Given the description of an element on the screen output the (x, y) to click on. 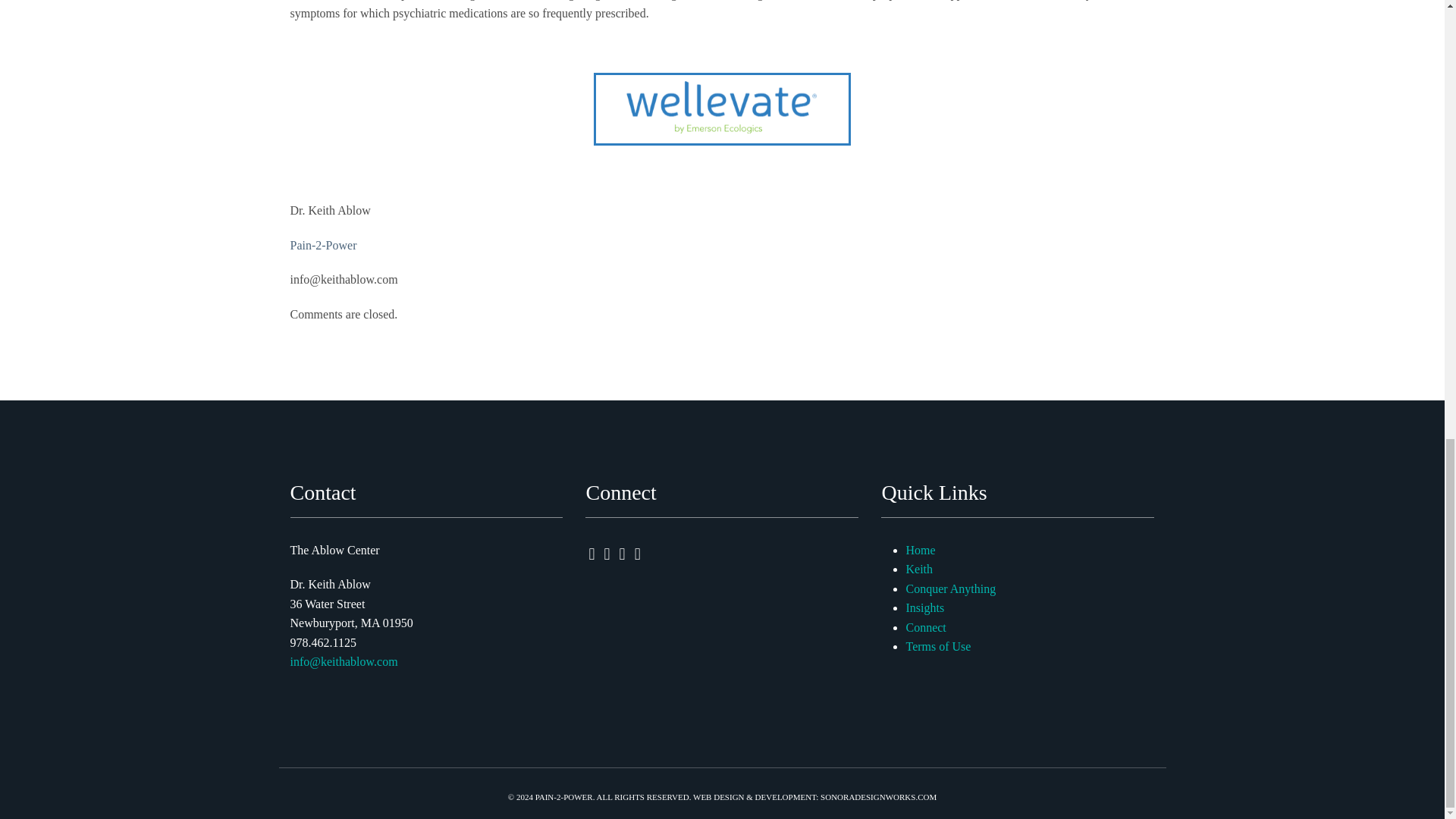
Keith (919, 568)
Conquer Anything (950, 588)
Insights (924, 607)
Terms of Use (938, 645)
Connect (924, 626)
Home (919, 549)
Pain-2-Power (322, 245)
